Given the description of an element on the screen output the (x, y) to click on. 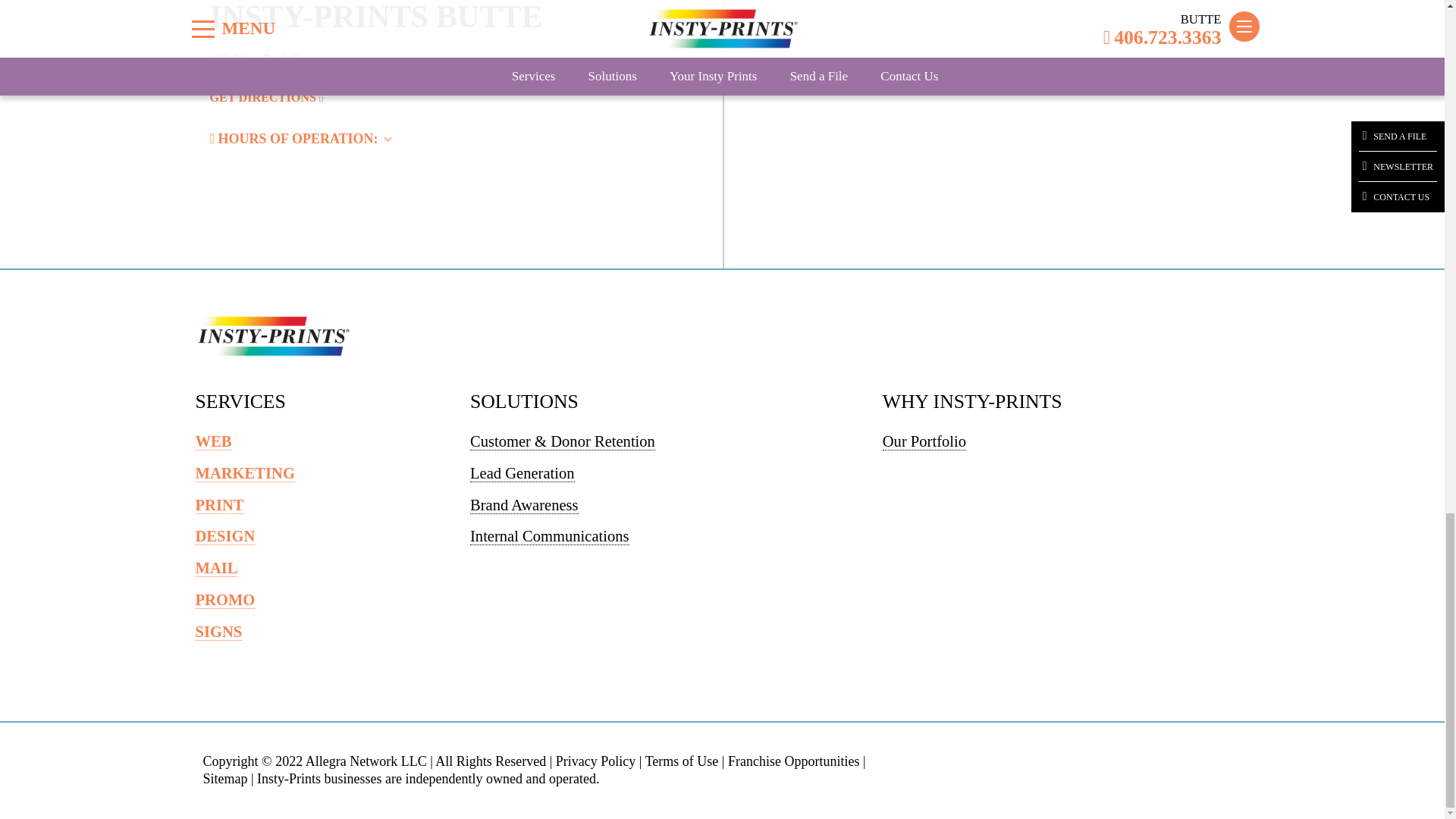
Visit Google Map (266, 97)
